Given the description of an element on the screen output the (x, y) to click on. 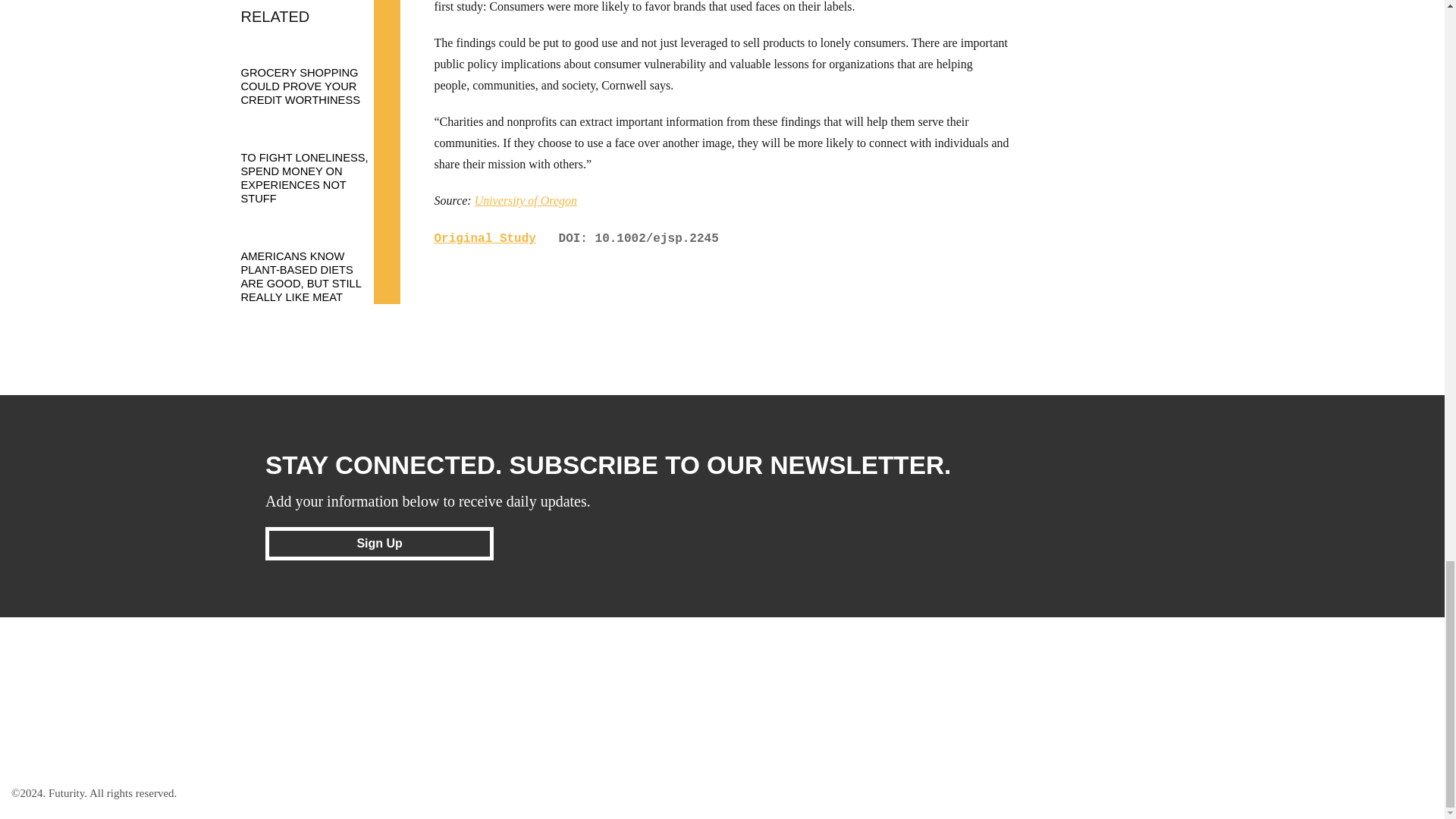
Grocery shopping could prove your credit worthiness (313, 71)
To fight loneliness, spend money on experiences not stuff (313, 163)
